Given the description of an element on the screen output the (x, y) to click on. 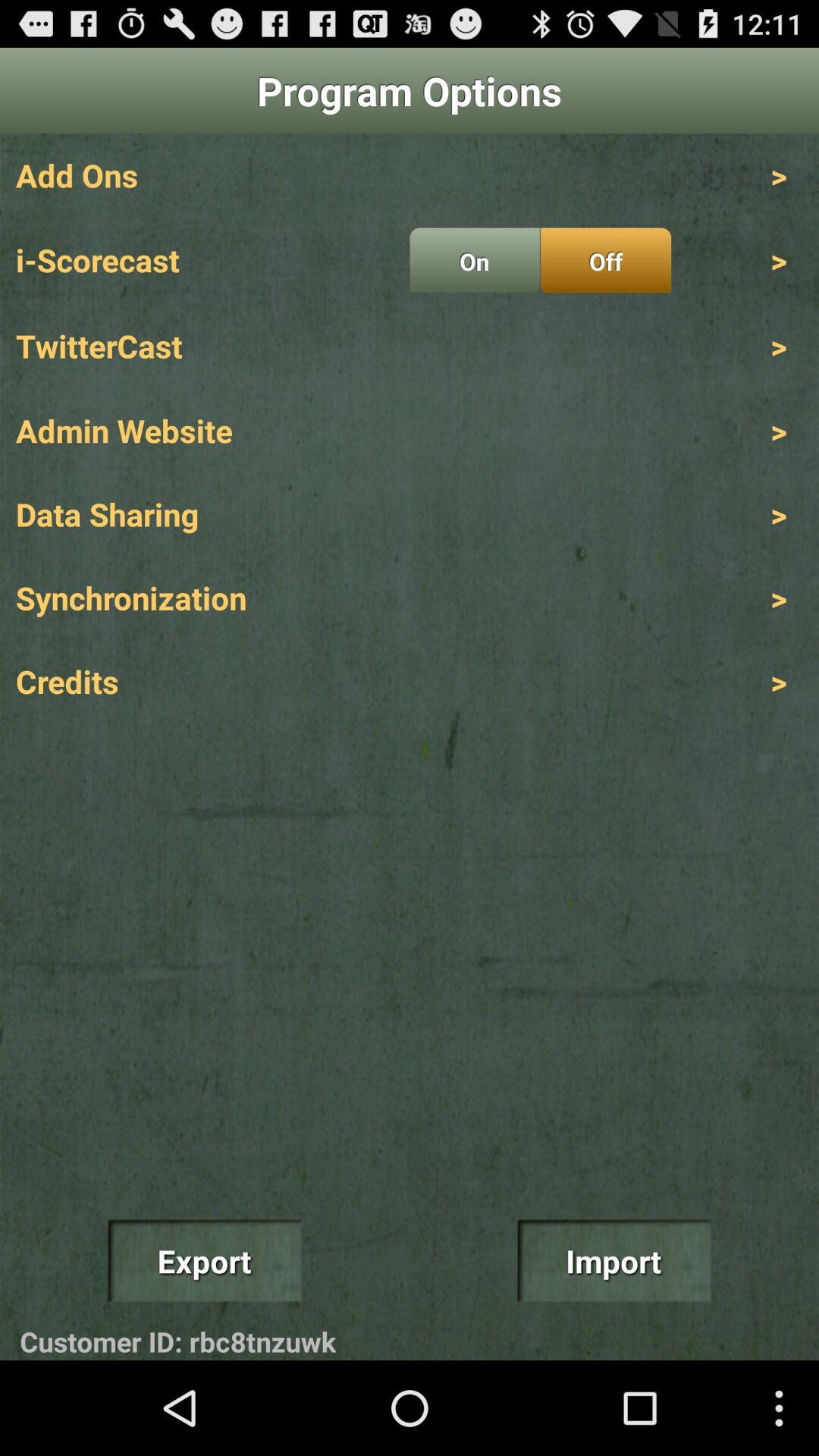
swipe to the off (605, 259)
